Given the description of an element on the screen output the (x, y) to click on. 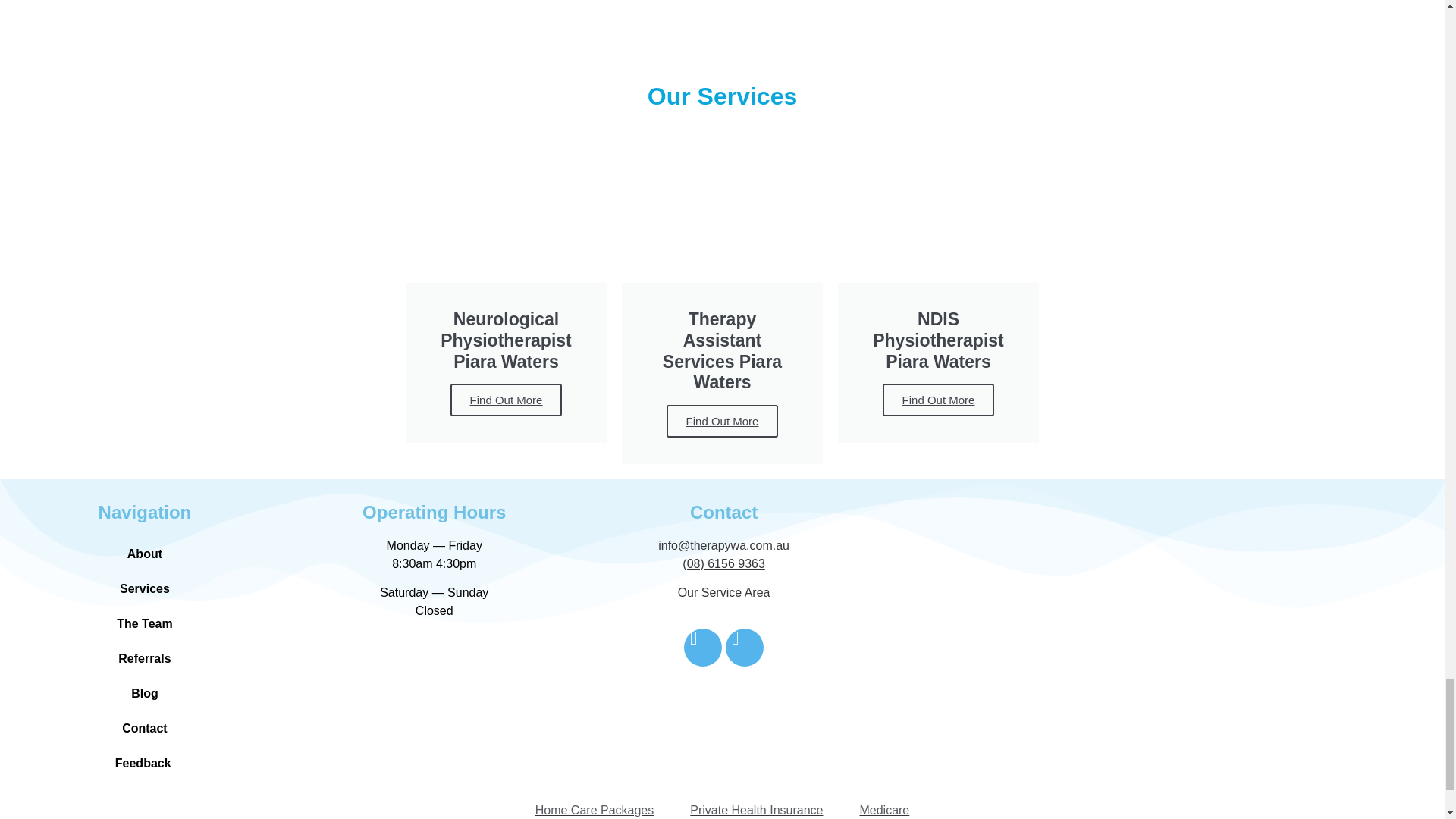
made-in-western-australia-logo-0B09B0D47D-seeklogo.com (434, 683)
